Given the description of an element on the screen output the (x, y) to click on. 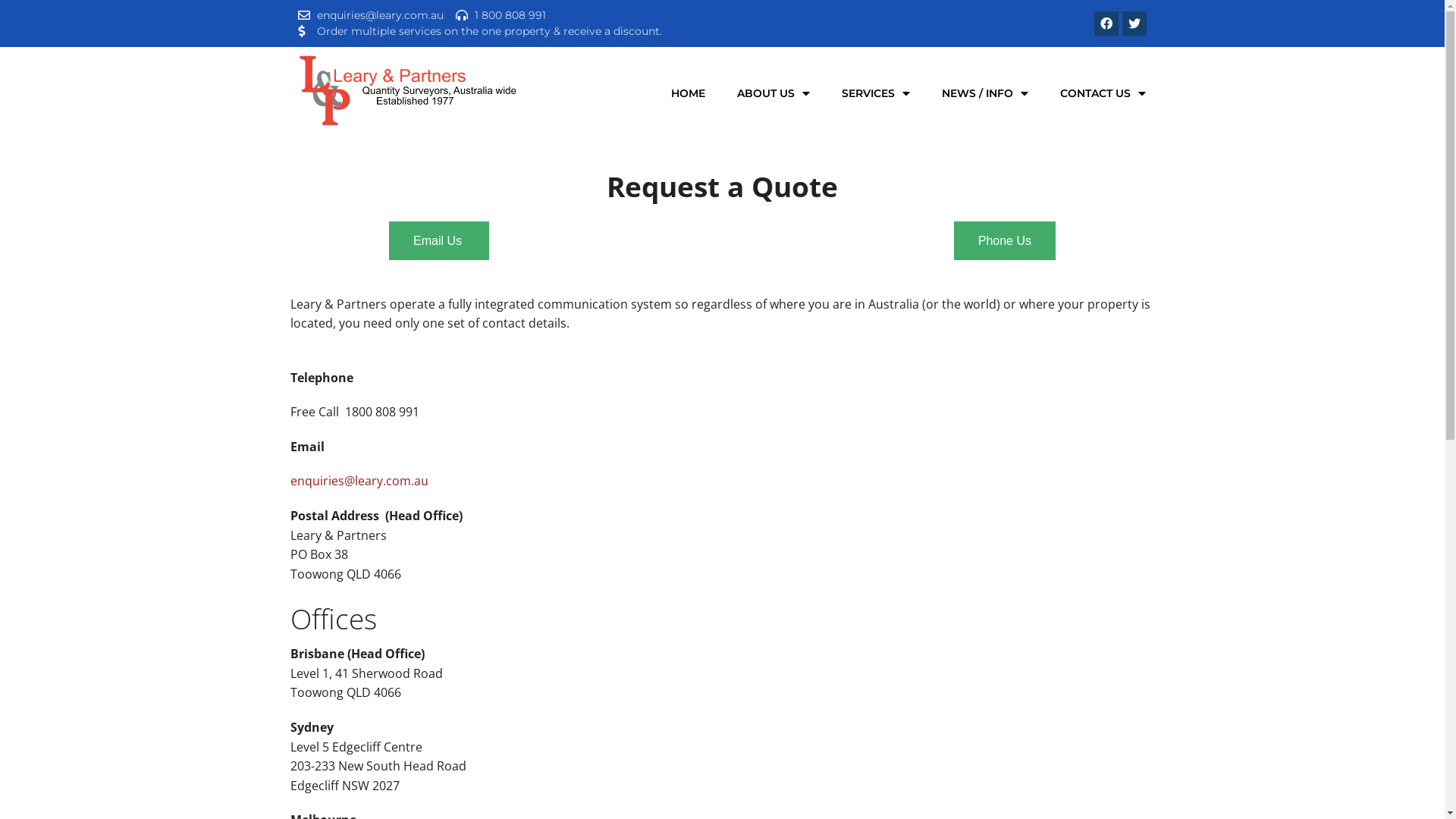
Phone Us Element type: text (1004, 240)
HOME Element type: text (688, 92)
enquiries@leary.com.au Element type: text (369, 15)
SERVICES Element type: text (875, 92)
enquiries@leary.com.au Element type: text (358, 480)
Email Us  Element type: text (439, 240)
NEWS / INFO Element type: text (985, 92)
CONTACT US Element type: text (1102, 92)
ABOUT US Element type: text (773, 92)
1 800 808 991 Element type: text (500, 15)
